Given the description of an element on the screen output the (x, y) to click on. 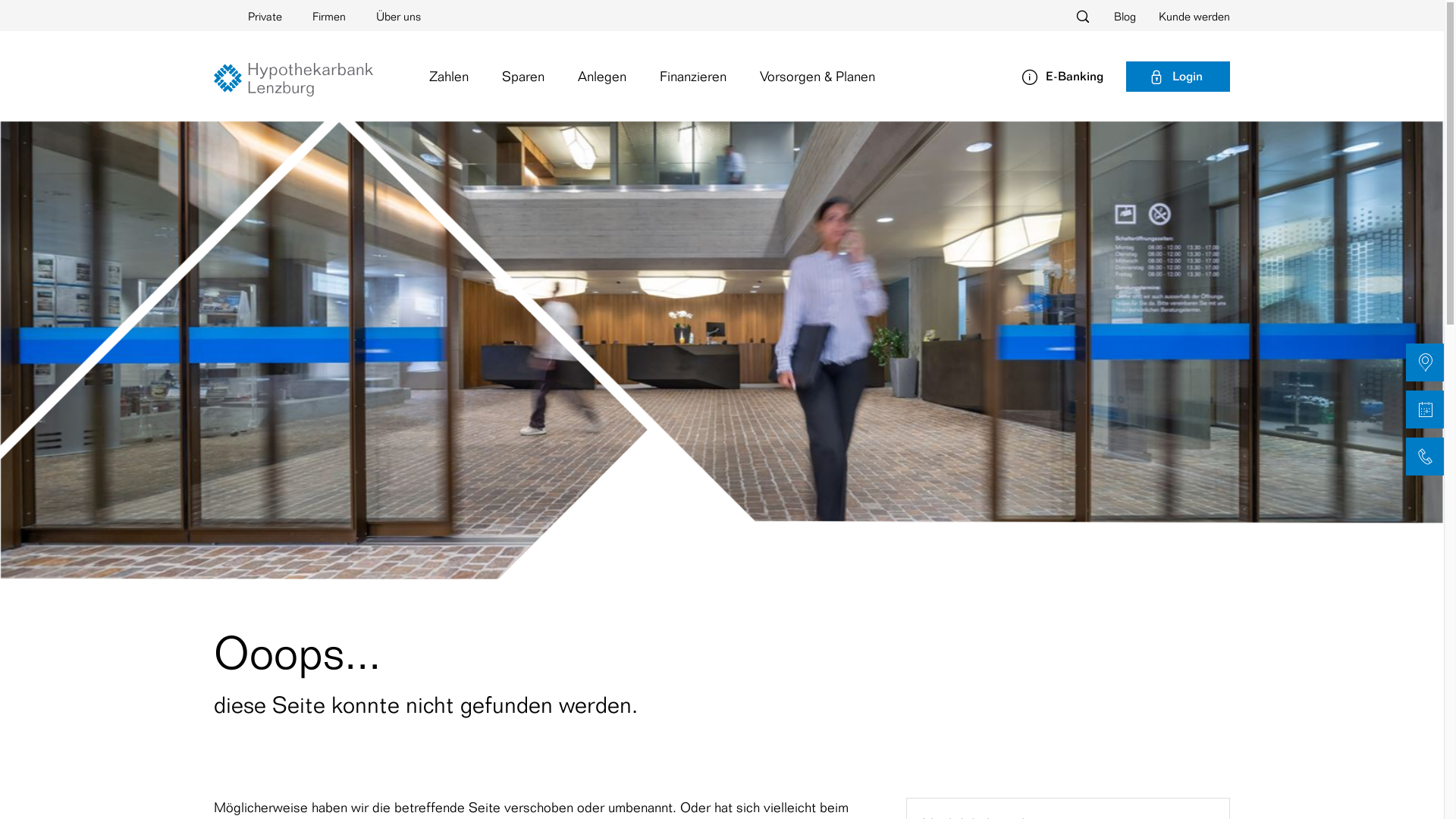
Kontakt Element type: text (1424, 456)
Home Hbl - Hypothekarbank Lenzburg AG Element type: hover (293, 79)
Termin vereinbaren Element type: text (1424, 409)
Vorsorgen & Planen Element type: text (817, 76)
Login Element type: text (1178, 76)
Anlegen Element type: text (602, 76)
Kunde werden Element type: text (1182, 15)
E-Banking Element type: text (1062, 75)
Sparen Element type: text (523, 76)
Blog Element type: text (1113, 15)
Finanzieren Element type: text (693, 76)
Private Element type: text (264, 15)
Firmen Element type: text (328, 15)
Suchen Element type: text (1067, 15)
Zahlen Element type: text (448, 76)
